Given the description of an element on the screen output the (x, y) to click on. 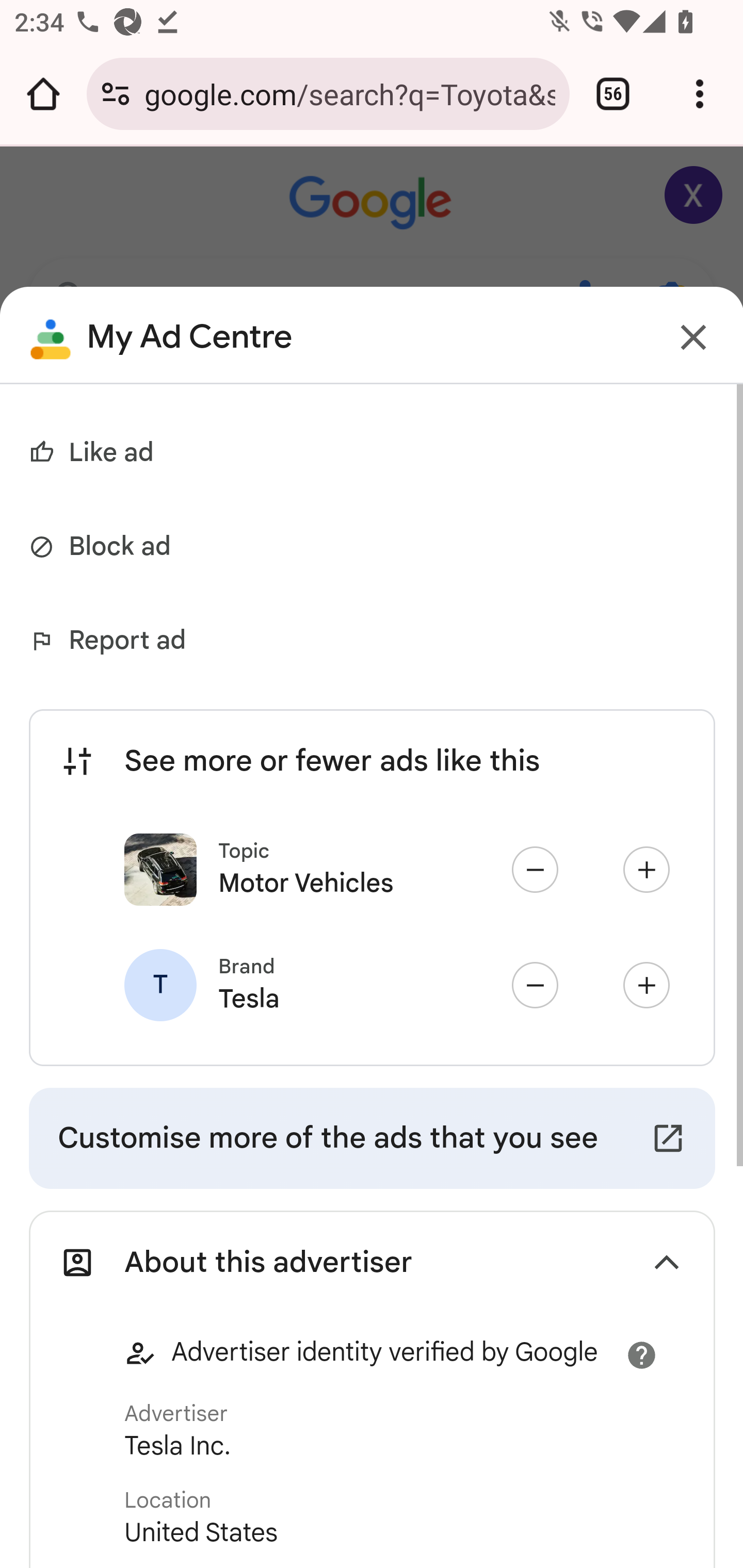
Open the home page (43, 93)
Connection is secure (115, 93)
Switch or close tabs (612, 93)
Customize and control Google Chrome (699, 93)
